Given the description of an element on the screen output the (x, y) to click on. 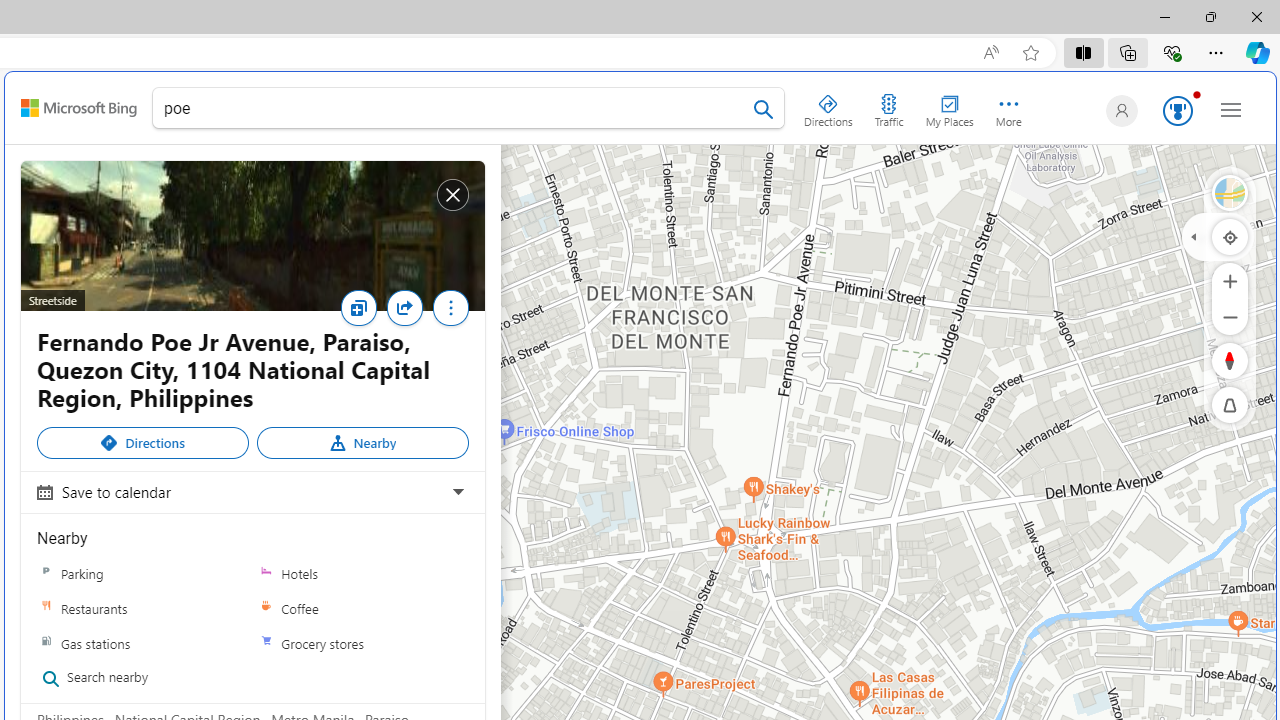
Parking (143, 573)
Road (1230, 192)
AutomationID: serp_medal_svg (1178, 110)
Restaurants (143, 608)
Expand/Collapse Geochain (1193, 236)
Restaurants (46, 609)
Streetside (1230, 192)
Gas stations (46, 643)
Animation (1196, 94)
Zoom In (1230, 280)
